Given the description of an element on the screen output the (x, y) to click on. 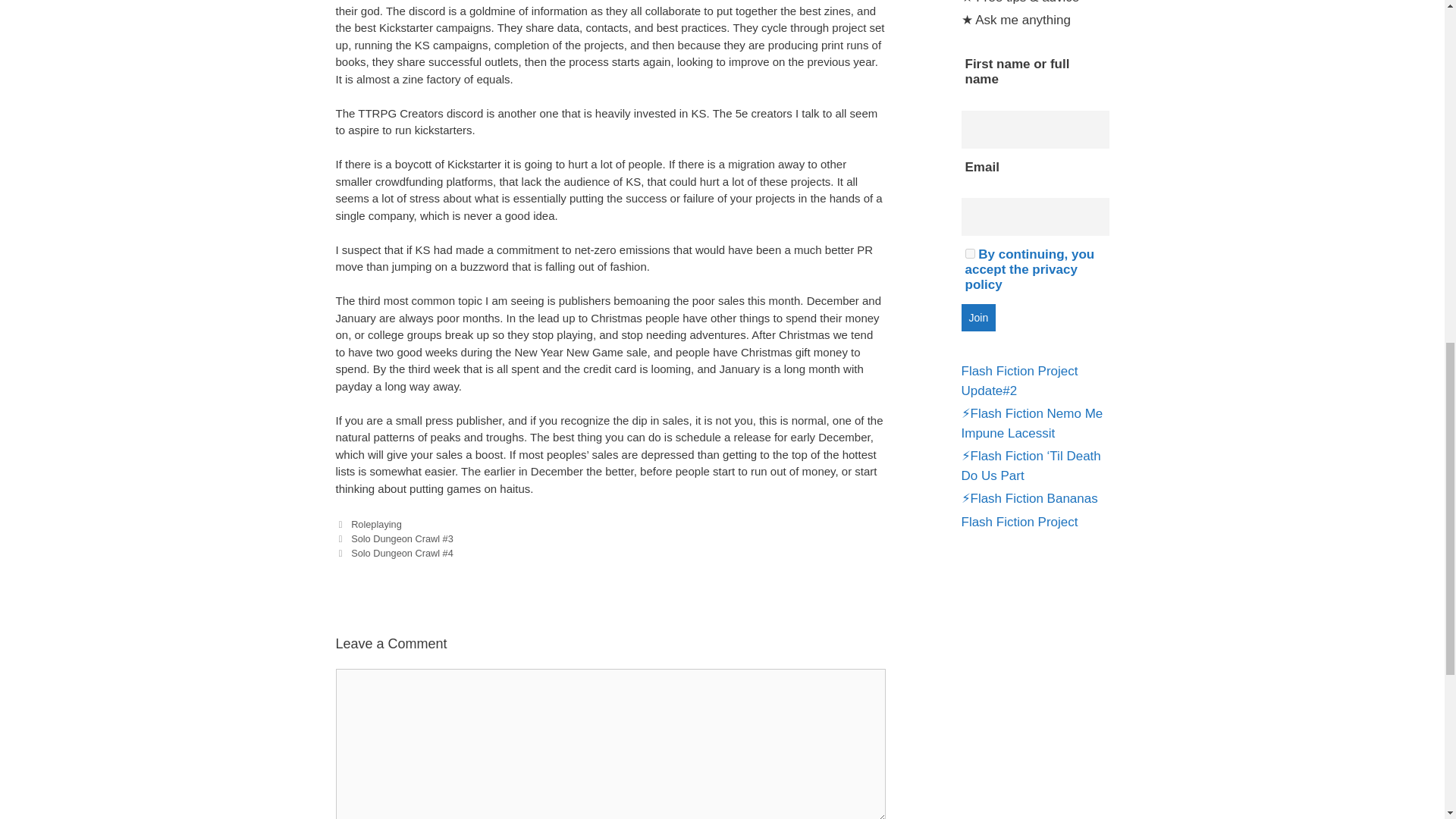
Flash Fiction Project (1019, 522)
Join (977, 317)
Roleplaying (375, 523)
Join (977, 317)
on (968, 253)
By continuing, you accept the privacy policy (1028, 269)
